Given the description of an element on the screen output the (x, y) to click on. 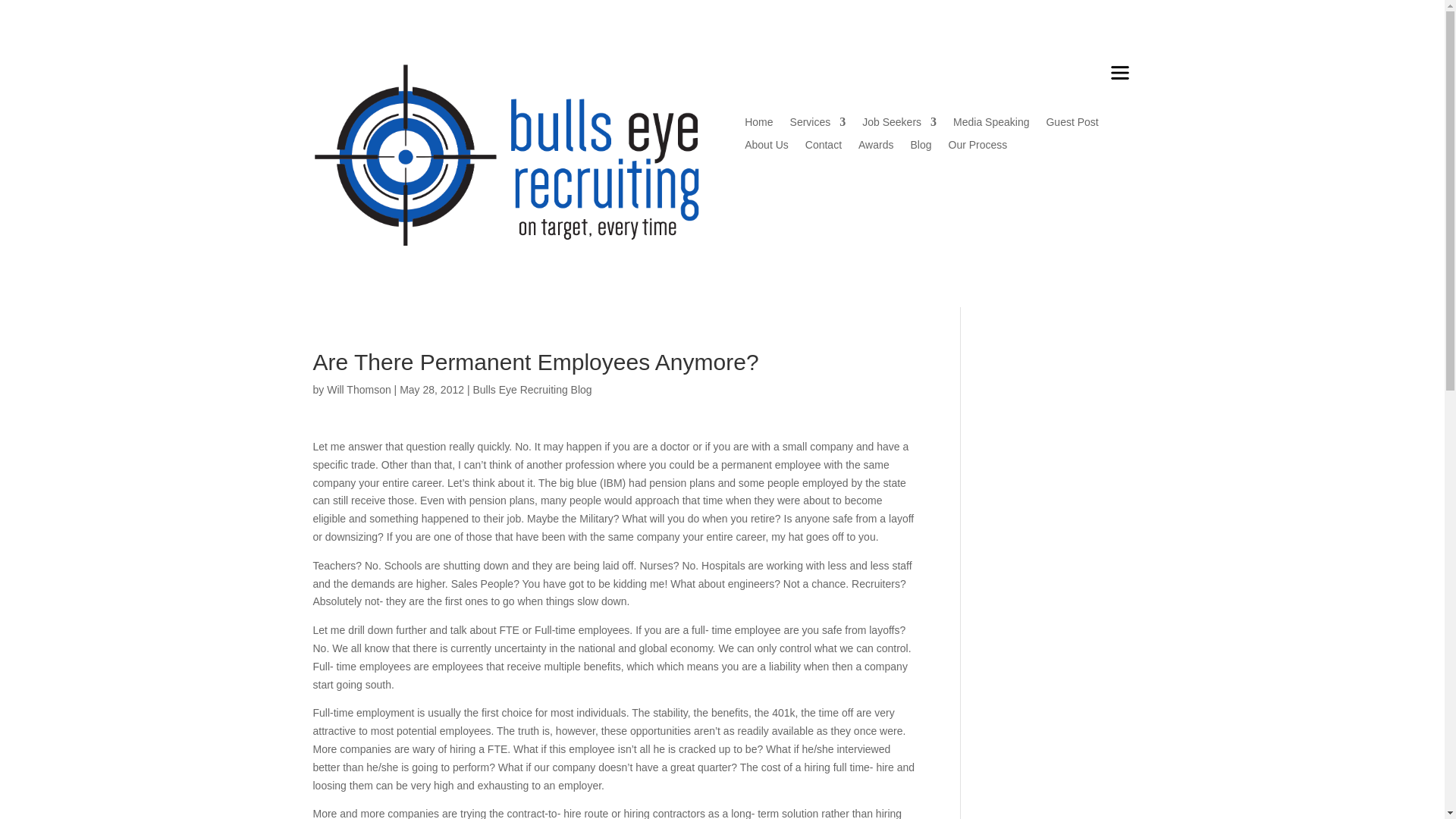
Guest Post (1071, 125)
Contact (823, 147)
Bulls-Eye-Recruiting-LOGO-v2blue (505, 153)
Will Thomson (358, 389)
Job Seekers (898, 125)
Home (758, 125)
Services (817, 125)
Bulls Eye Recruiting Blog (531, 389)
About Us (766, 147)
Posts by Will Thomson (358, 389)
Blog (920, 147)
Our Process (977, 147)
Awards (876, 147)
Media Speaking (991, 125)
